Given the description of an element on the screen output the (x, y) to click on. 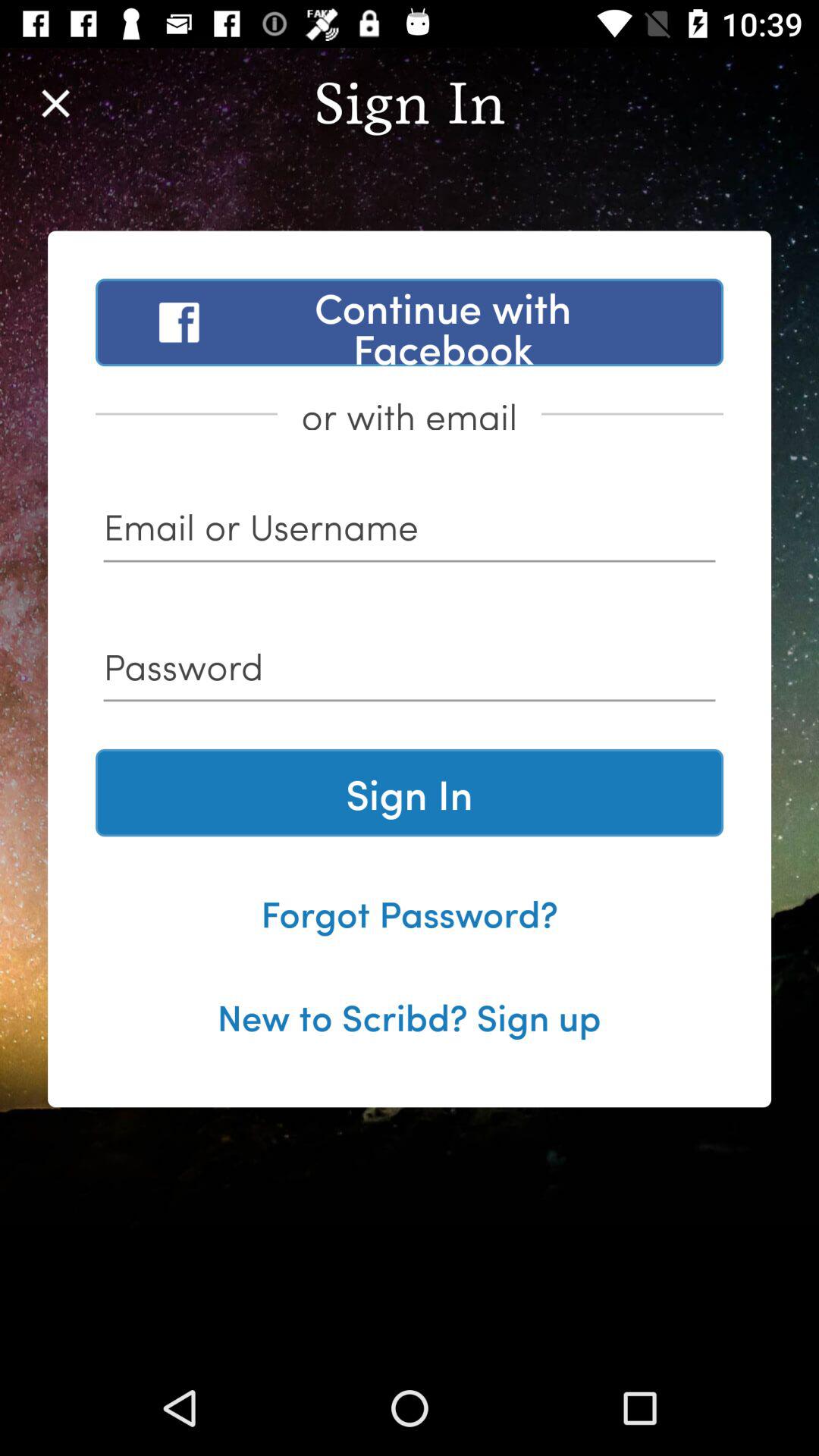
click the icon at the top left corner (55, 103)
